Given the description of an element on the screen output the (x, y) to click on. 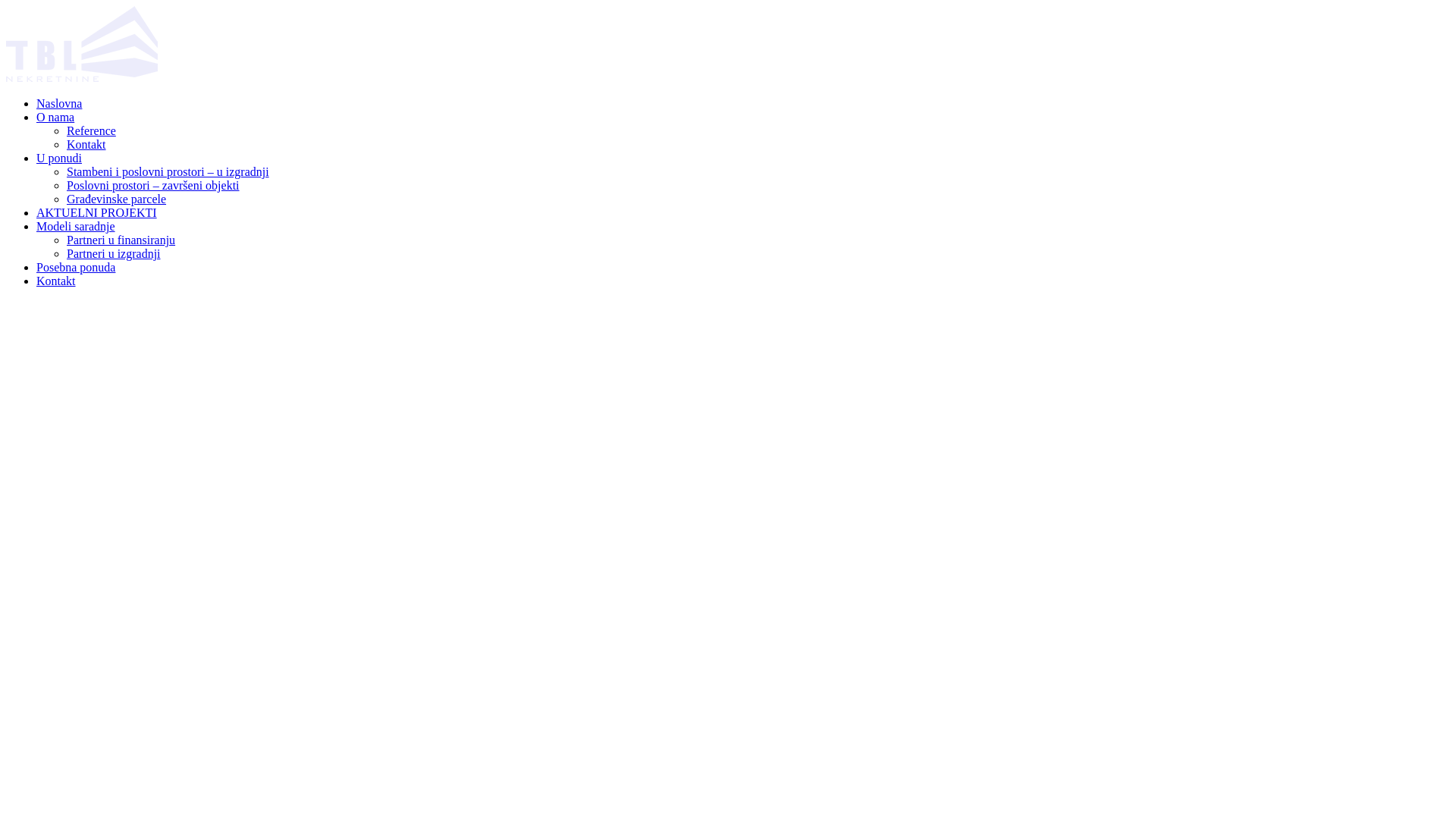
Partneri u finansiranju Element type: text (120, 239)
O nama Element type: text (55, 116)
Kontakt Element type: text (55, 280)
Naslovna Element type: text (58, 103)
U ponudi Element type: text (58, 157)
AKTUELNI PROJEKTI Element type: text (96, 212)
Kontakt Element type: text (86, 144)
Modeli saradnje Element type: text (75, 225)
Partneri u izgradnji Element type: text (113, 253)
Reference Element type: text (91, 130)
Posebna ponuda Element type: text (75, 266)
